Given the description of an element on the screen output the (x, y) to click on. 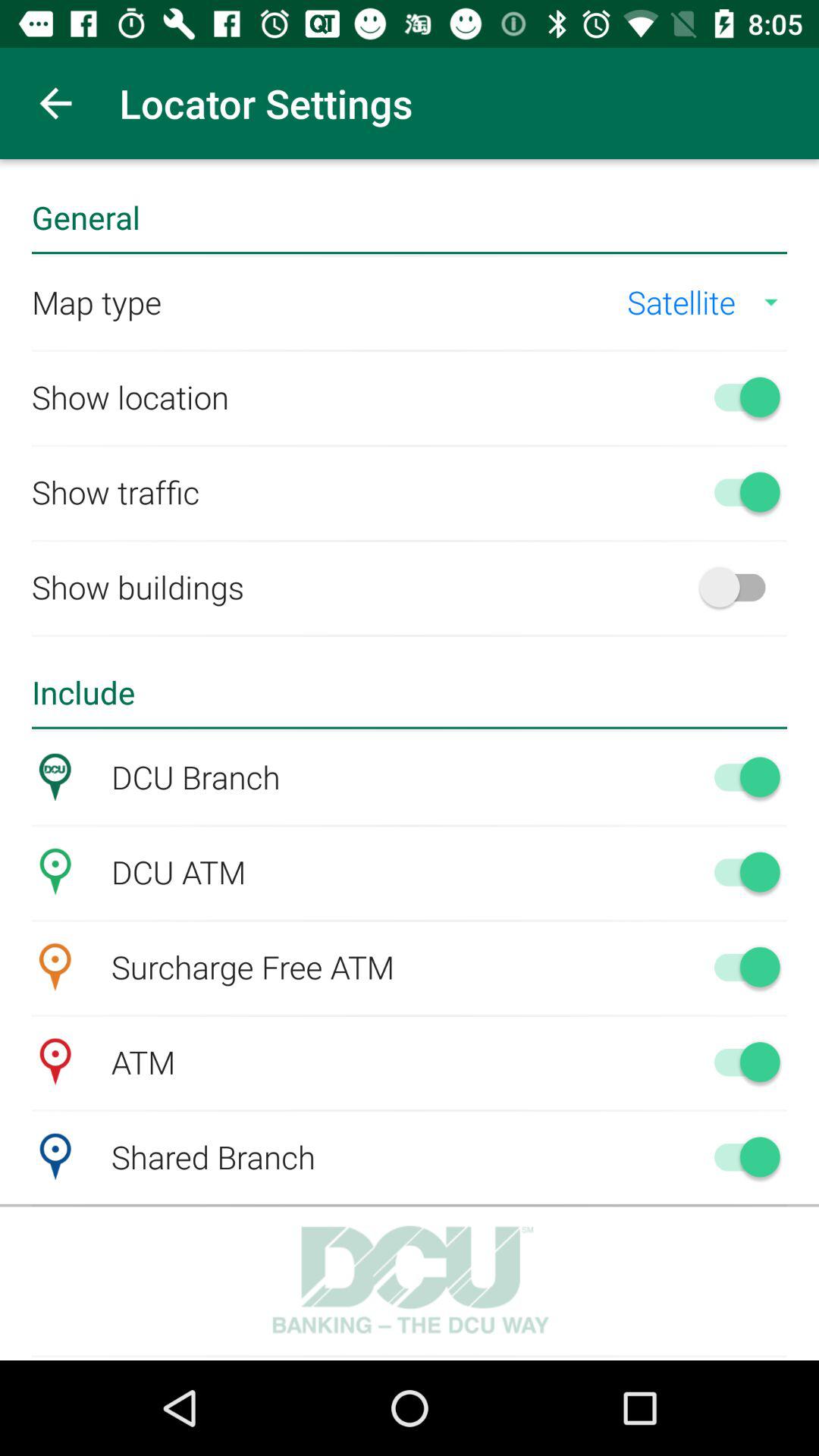
toggles option on and off (739, 871)
